Given the description of an element on the screen output the (x, y) to click on. 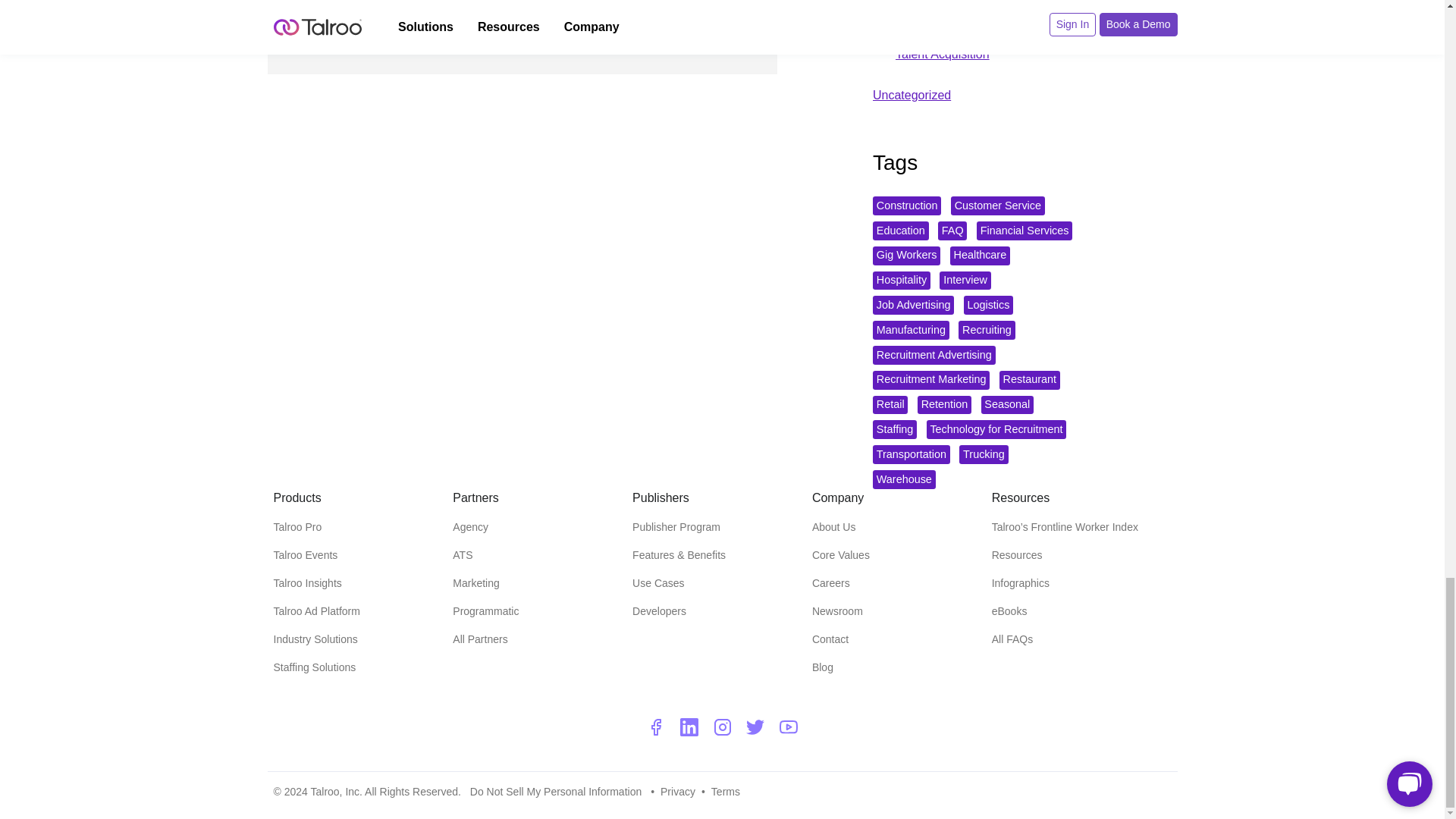
Gig Workers Tag (906, 255)
Interview Tag (964, 280)
Education Tag (900, 230)
Hospitality Tag (901, 280)
Retail Tag (889, 404)
FAQ Tag (951, 230)
Financial Services Tag (1023, 230)
Job Advertising Tag (912, 304)
Manufacturing Tag (910, 330)
Recruitment Advertising Tag (933, 354)
Construction Tag (906, 205)
Restaurant Tag (1028, 380)
Recruiting Tag (986, 330)
Recruitment Marketing Tag (931, 380)
Logistics Tag (988, 304)
